Given the description of an element on the screen output the (x, y) to click on. 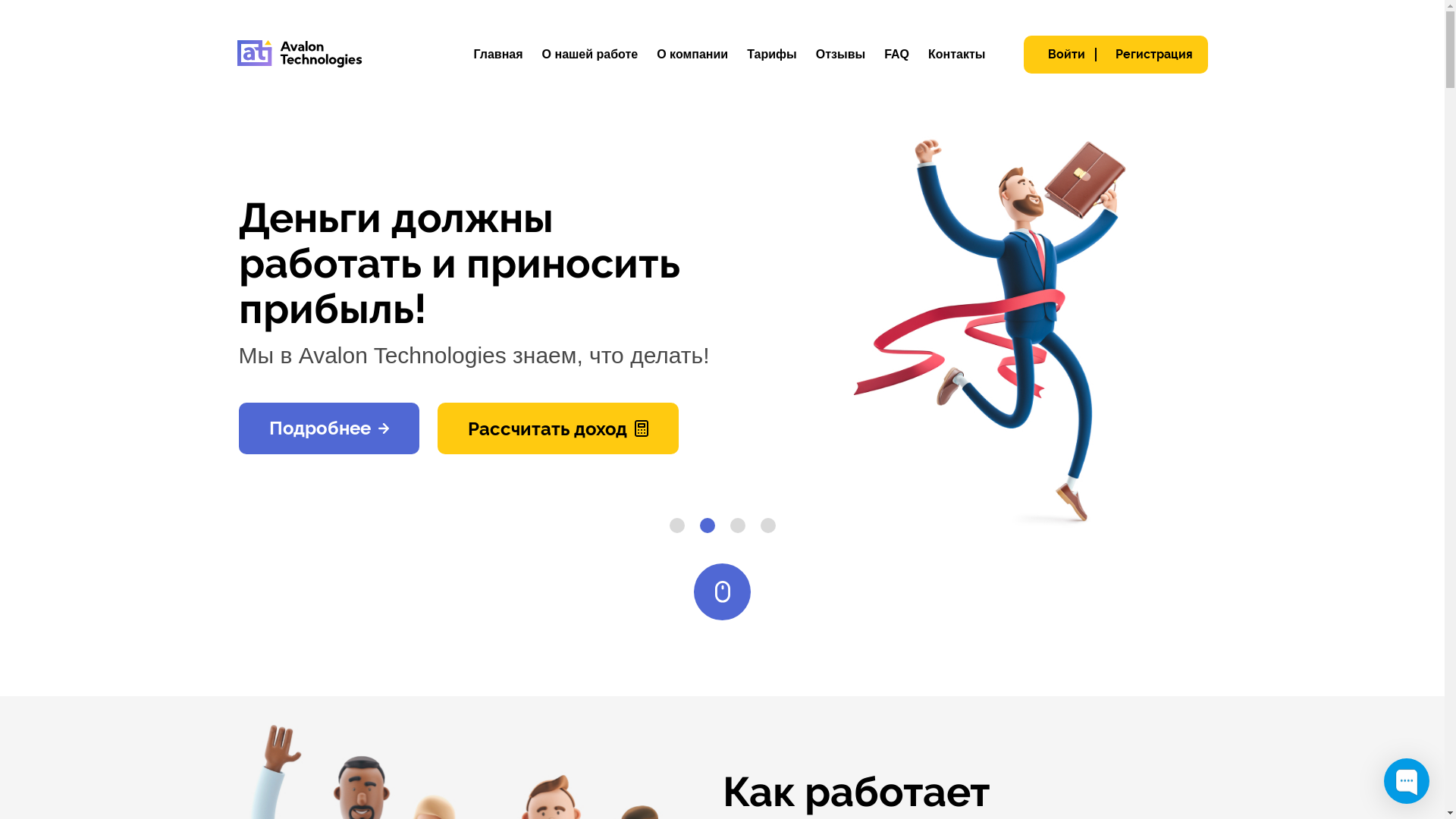
FAQ Element type: text (896, 55)
4 Element type: text (767, 525)
3 Element type: text (736, 525)
2 Element type: text (706, 525)
1 Element type: text (676, 525)
